Given the description of an element on the screen output the (x, y) to click on. 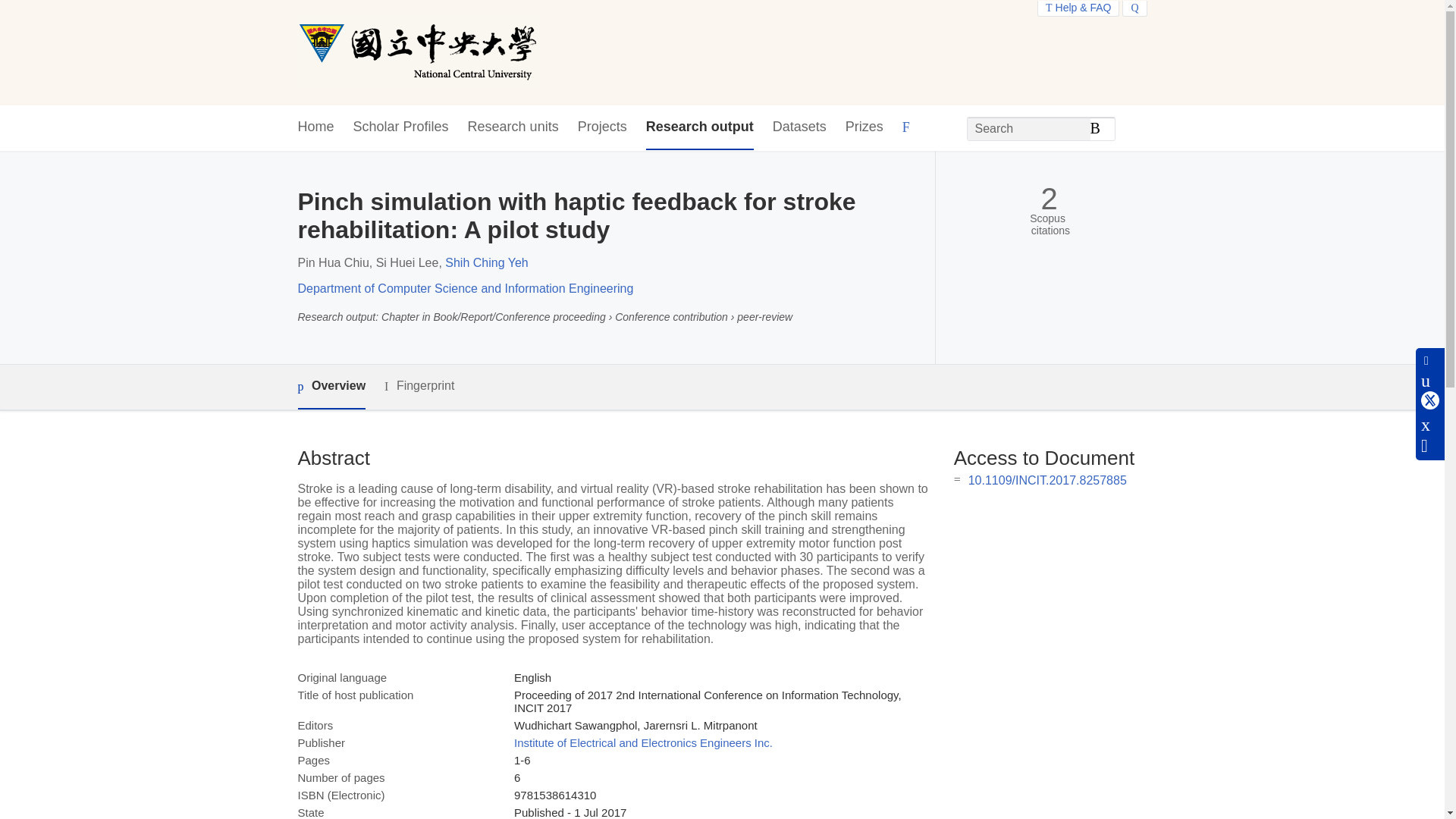
Datasets (800, 127)
Research output (700, 127)
Department of Computer Science and Information Engineering (465, 287)
Research units (513, 127)
Shih Ching Yeh (486, 262)
Institute of Electrical and Electronics Engineers Inc. (643, 742)
Scholar Profiles (400, 127)
Overview (331, 386)
Fingerprint (419, 385)
